Given the description of an element on the screen output the (x, y) to click on. 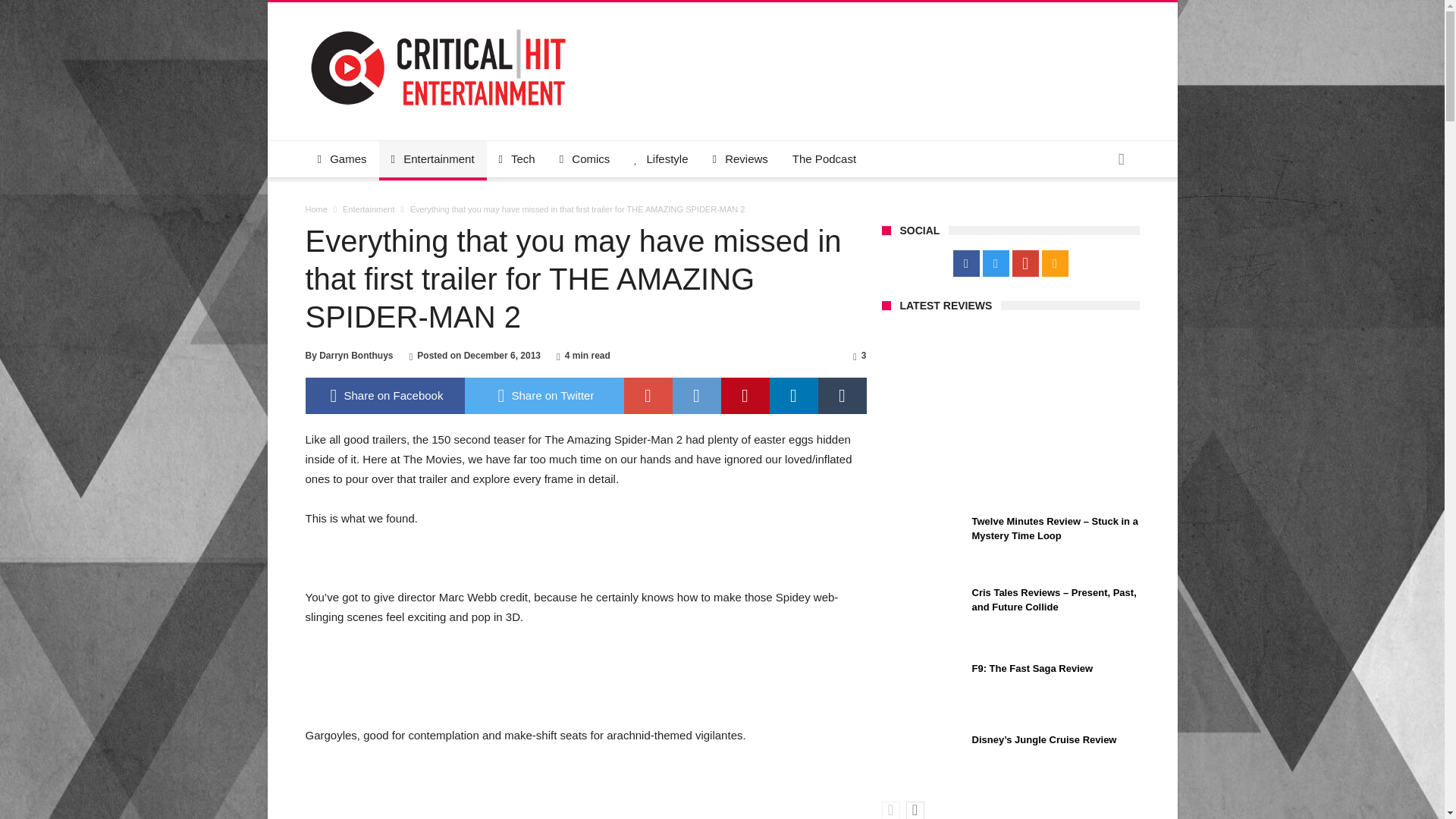
Share on Facebook (384, 395)
pinterest (744, 395)
Tech (516, 158)
Comics (585, 158)
reddit (695, 395)
Entertainment (432, 158)
facebook (384, 395)
Share on Reddit (695, 395)
Reviews (740, 158)
Games (341, 158)
